Given the description of an element on the screen output the (x, y) to click on. 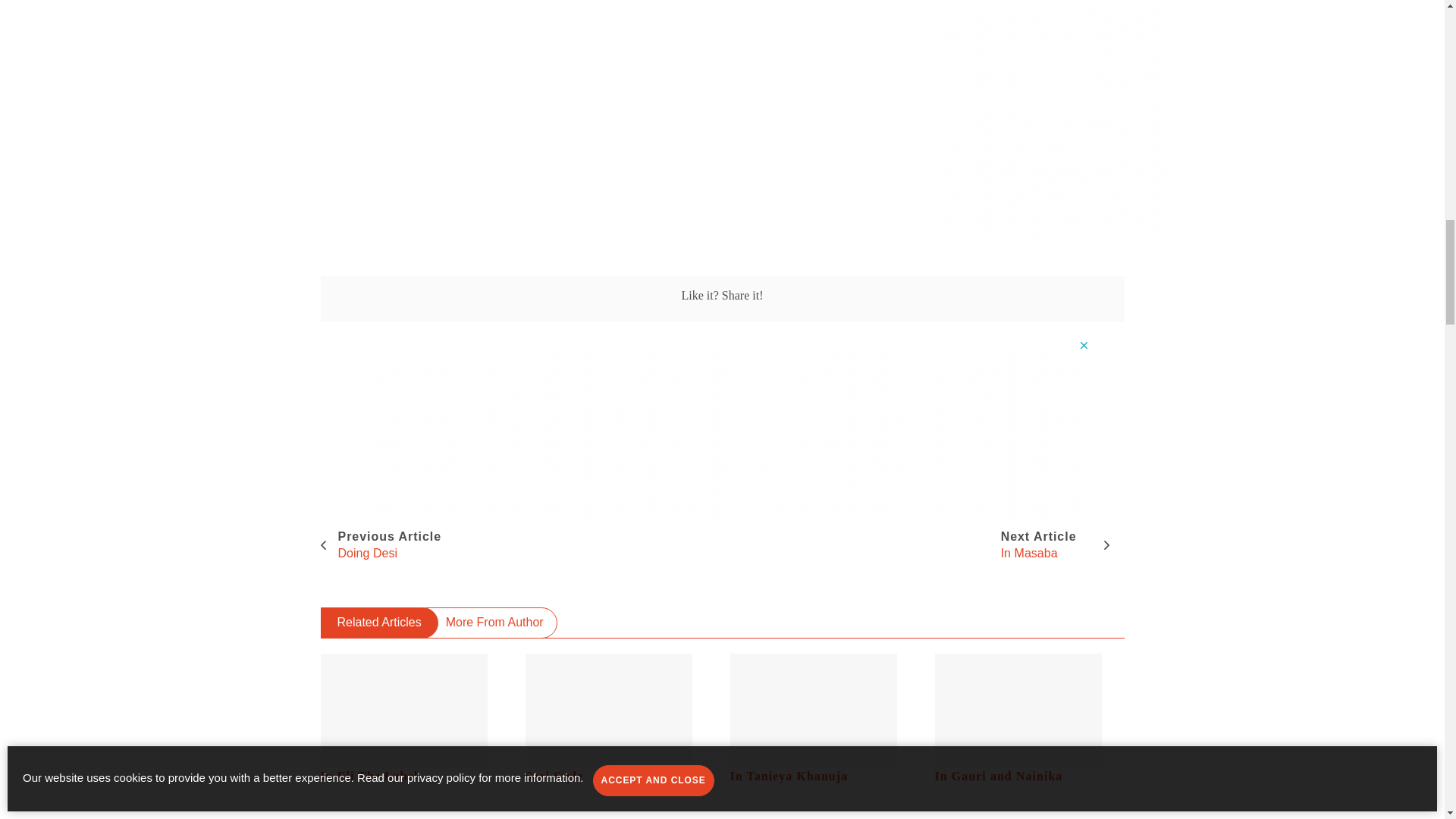
In Eli The Label (414, 718)
In Tanieya Khanuja (380, 545)
Sari Style (823, 718)
3rd party ad content (619, 718)
3rd party ad content (1053, 120)
More From Author (1029, 718)
Related Articles (491, 622)
